Given the description of an element on the screen output the (x, y) to click on. 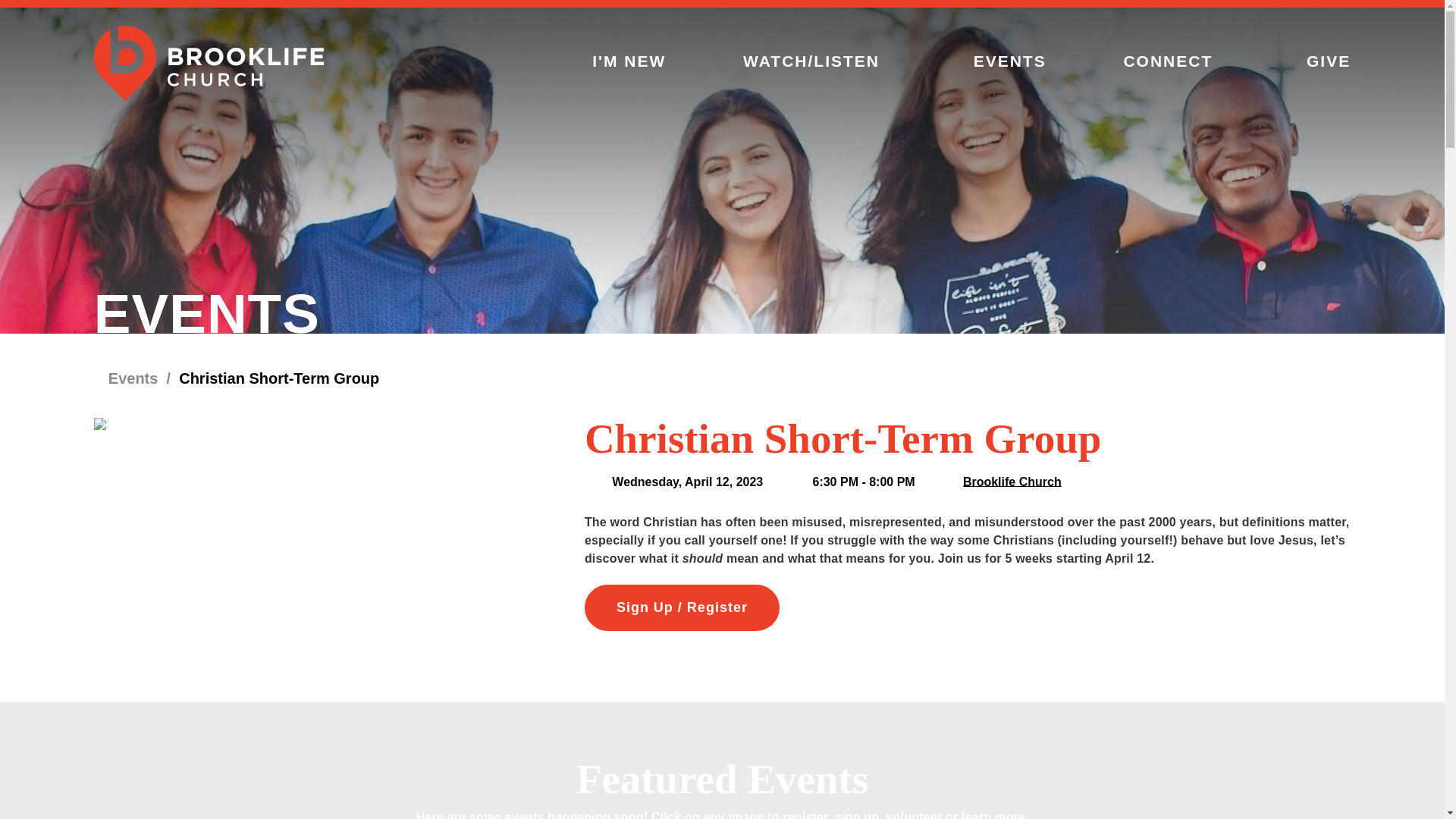
Brooklife Church (1011, 481)
EVENTS (1010, 60)
CONNECT (1175, 60)
Events (126, 378)
I'M NEW (628, 60)
GIVE (1328, 60)
